Given the description of an element on the screen output the (x, y) to click on. 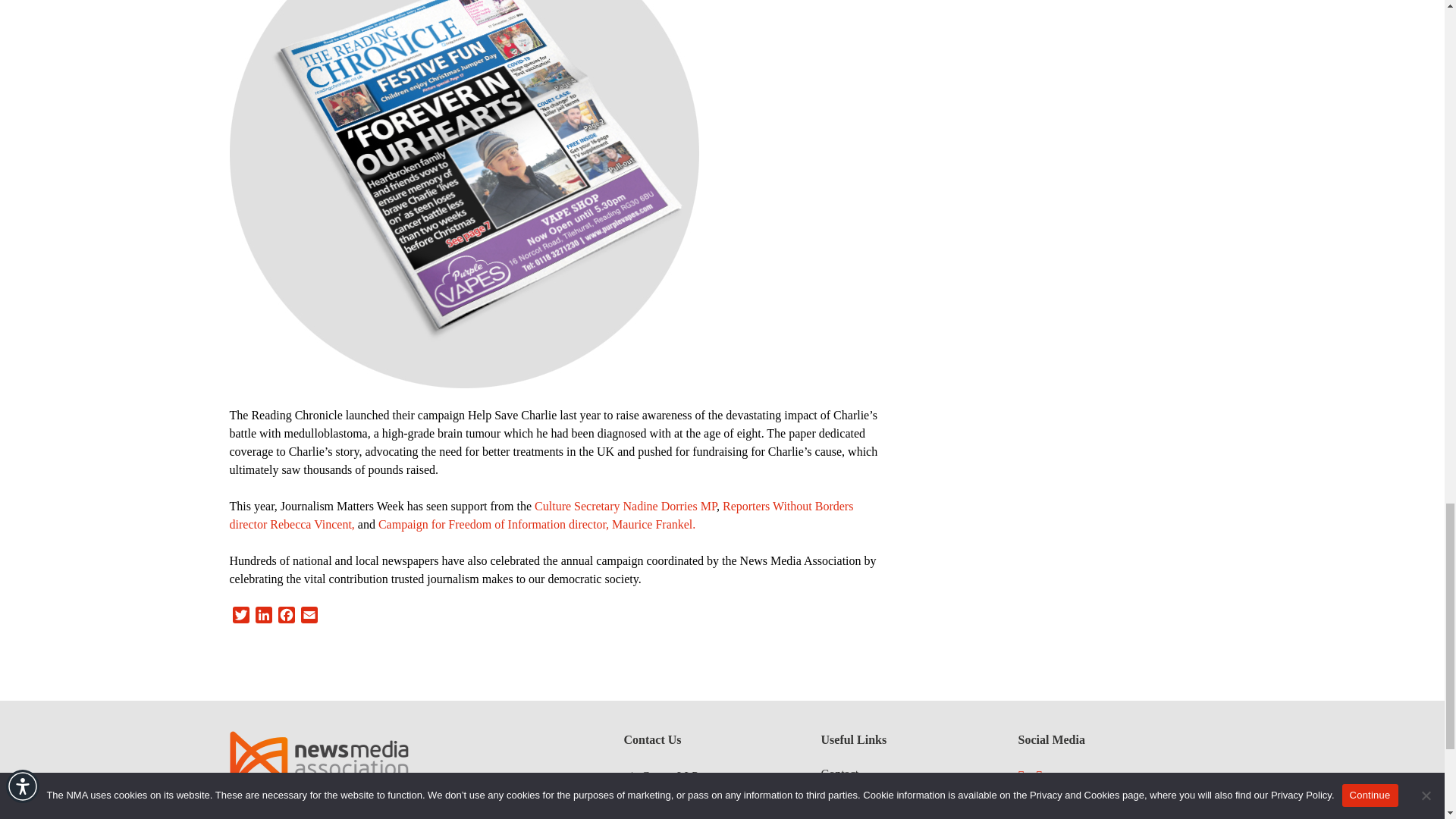
Facebook (286, 617)
Twitter (239, 617)
LinkedIn (263, 617)
Facebook (286, 617)
Culture Secretary Nadine Dorries MP (625, 505)
Twitter (239, 617)
Reporters Without Borders director Rebecca Vincent, (540, 514)
Email (308, 617)
